Given the description of an element on the screen output the (x, y) to click on. 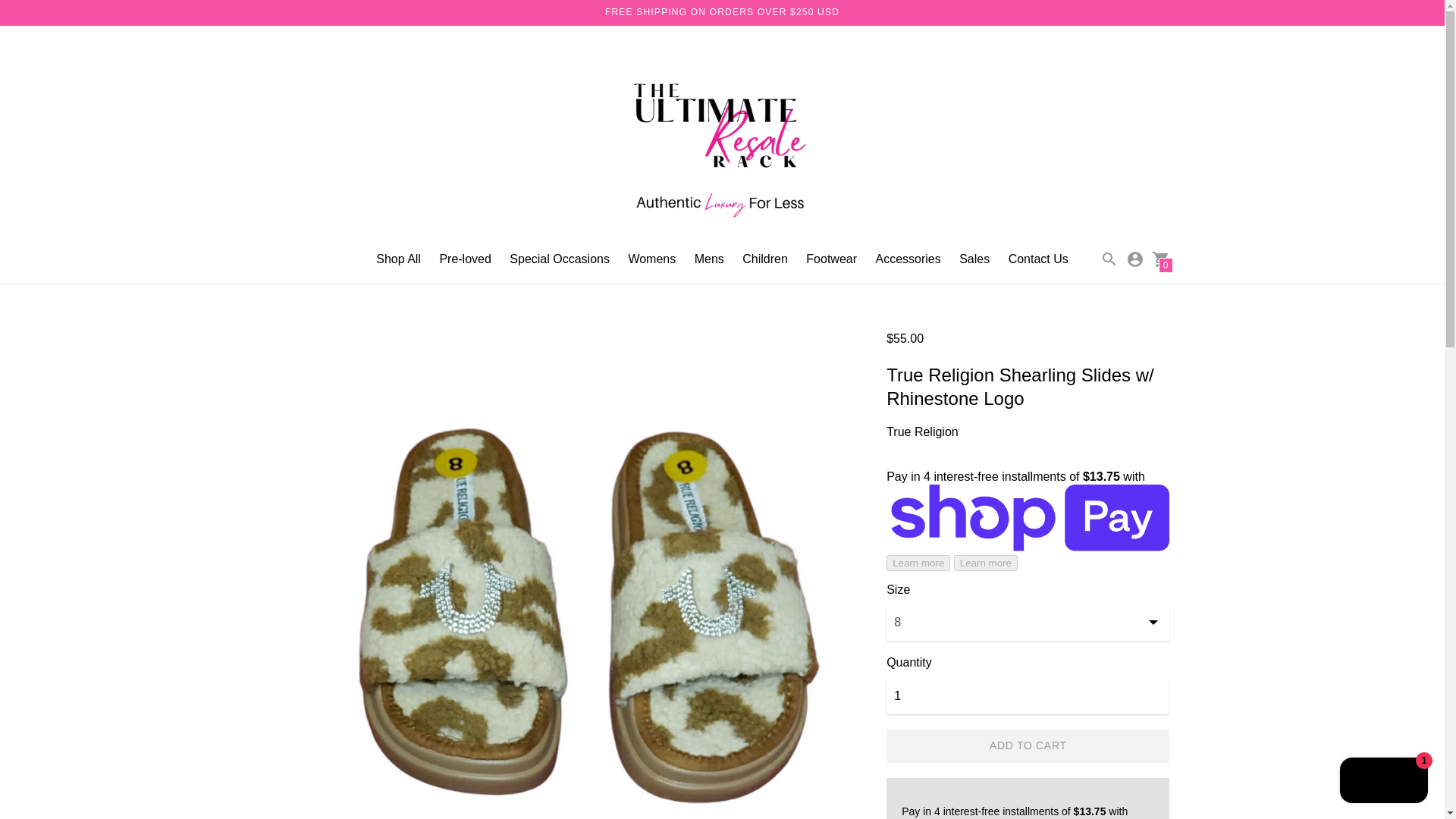
Womens (651, 258)
Footwear (831, 258)
Children (764, 258)
Mens (708, 258)
0 (1160, 257)
Shopify online store chat (1383, 781)
Shop All (397, 258)
Contact Us (1038, 258)
Pre-loved (464, 258)
Sales (974, 258)
1 (1027, 696)
Special Occasions (559, 258)
Accessories (907, 258)
